Given the description of an element on the screen output the (x, y) to click on. 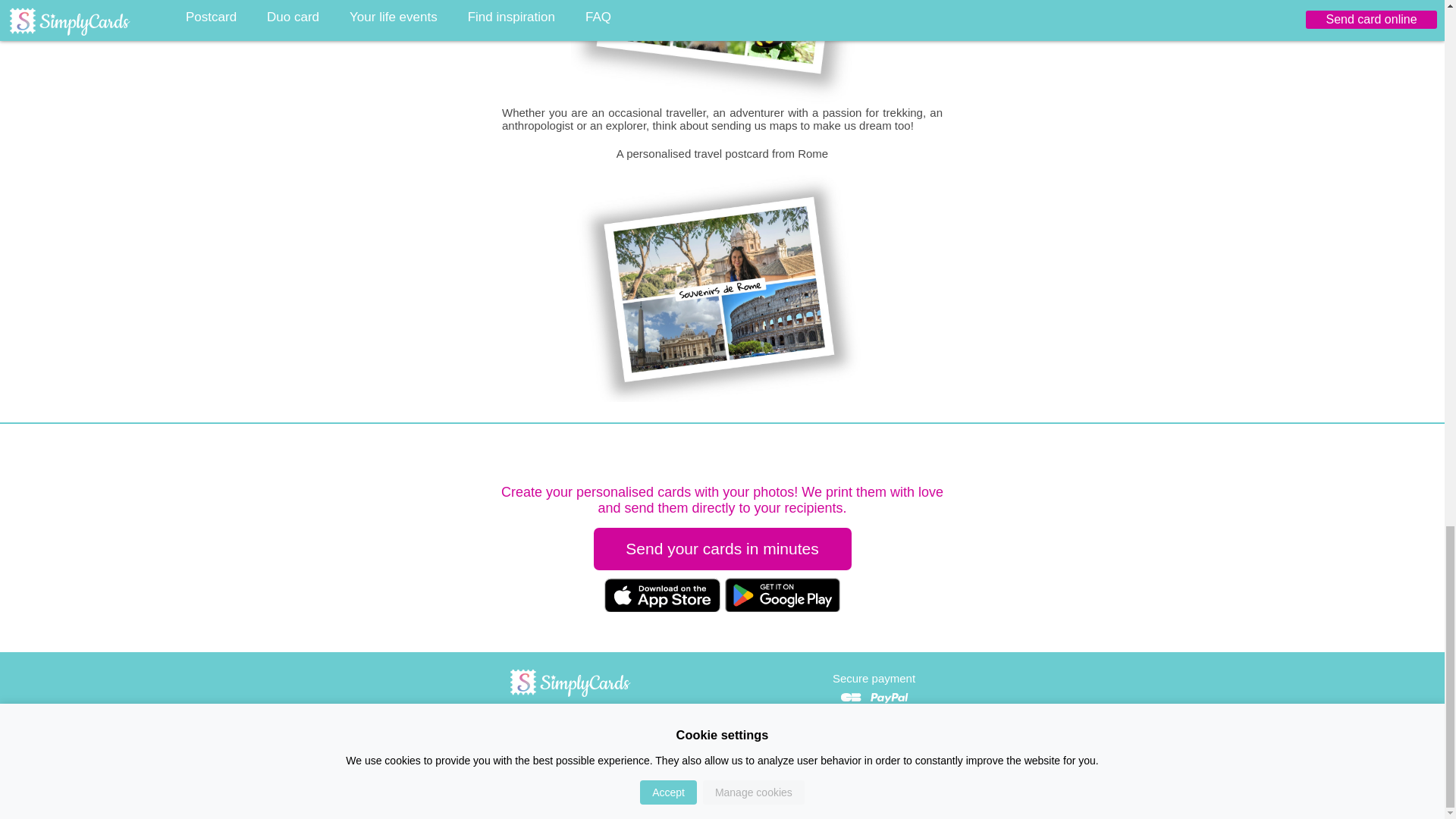
Download the SimplyCards Mobile application from App Store (662, 607)
Download the SimplyCards Mobile application from Google Play (781, 607)
SimplyCards (570, 694)
